Given the description of an element on the screen output the (x, y) to click on. 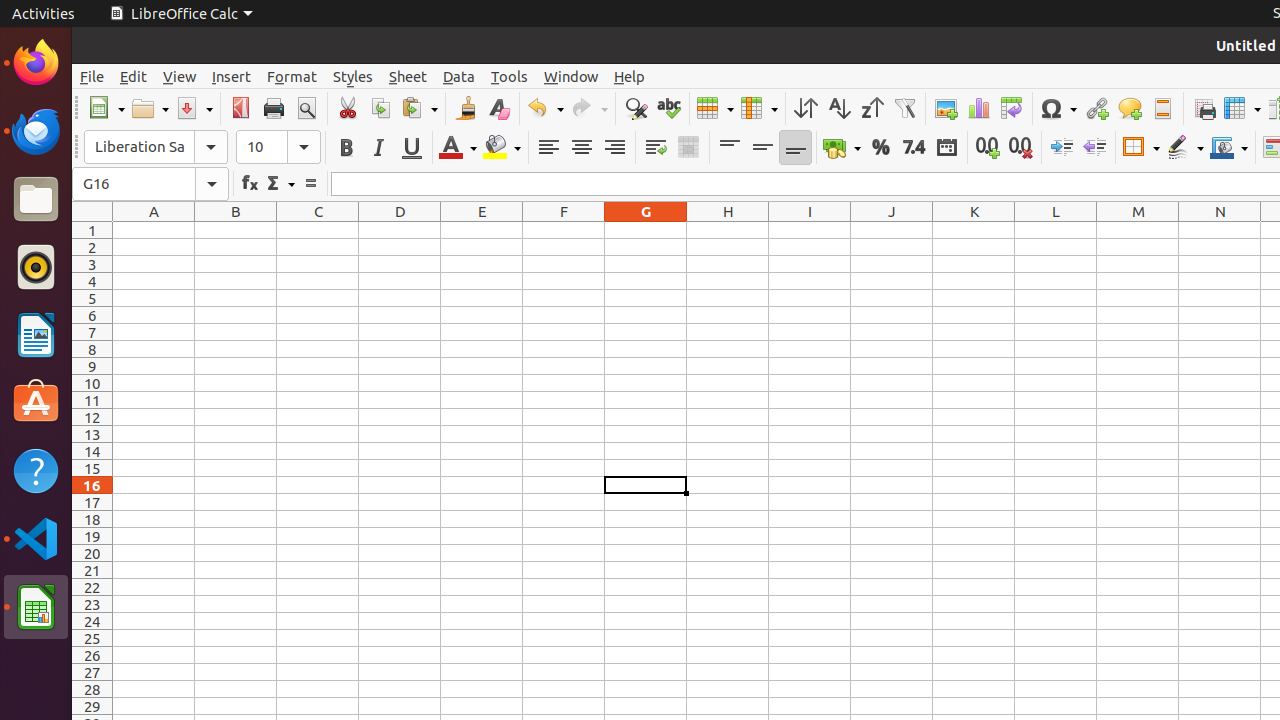
Insert Element type: menu (231, 76)
A1 Element type: table-cell (154, 230)
Background Color Element type: push-button (502, 147)
E1 Element type: table-cell (482, 230)
D1 Element type: table-cell (400, 230)
